Given the description of an element on the screen output the (x, y) to click on. 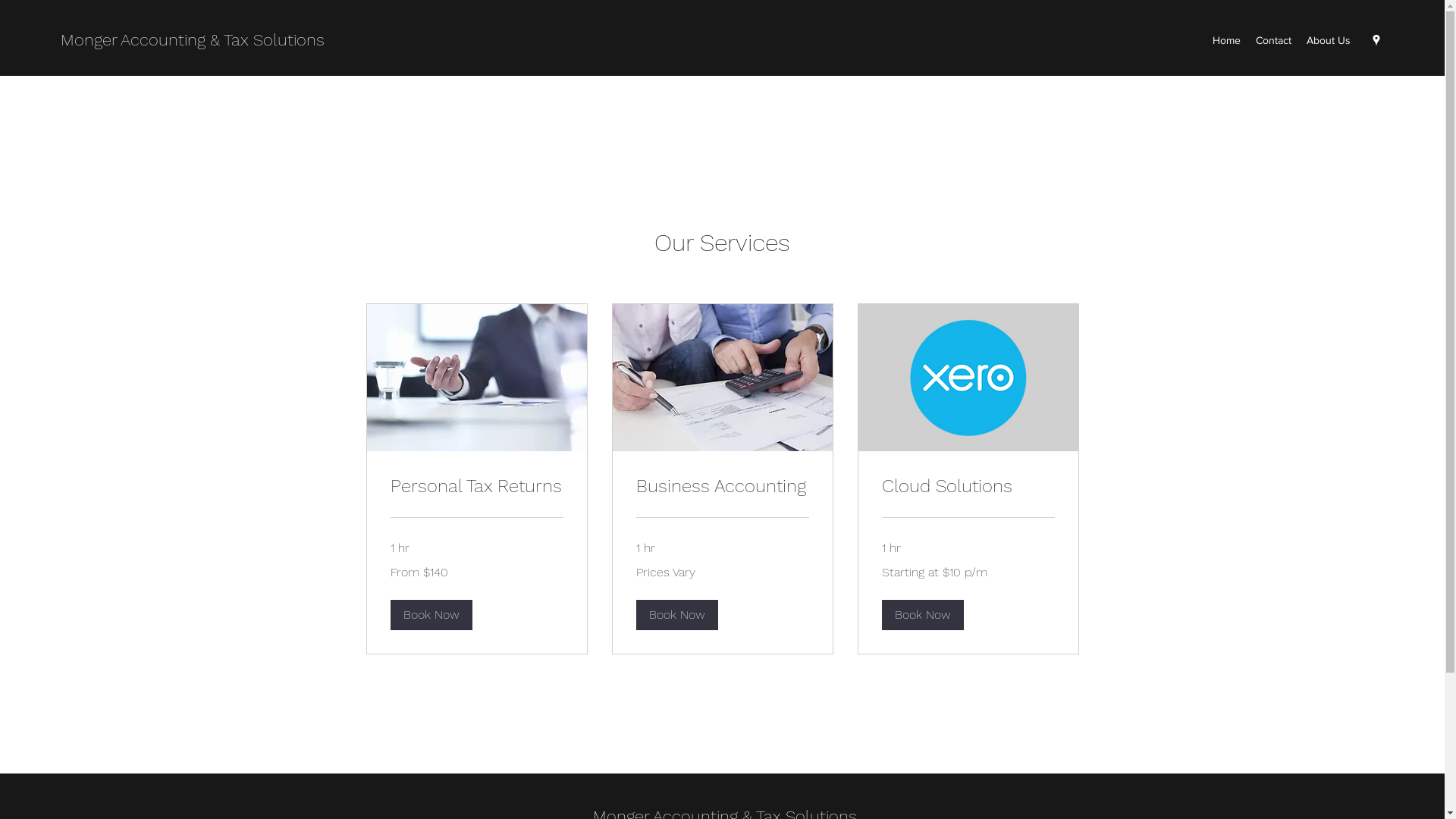
Home Element type: text (1226, 39)
Book Now Element type: text (676, 614)
About Us Element type: text (1328, 39)
Cloud Solutions Element type: text (967, 486)
Monger Accounting & Tax Solutions Element type: text (192, 39)
Contact Element type: text (1273, 39)
Personal Tax Returns Element type: text (475, 486)
Book Now Element type: text (922, 614)
Business Accounting Element type: text (721, 486)
Book Now Element type: text (430, 614)
